Given the description of an element on the screen output the (x, y) to click on. 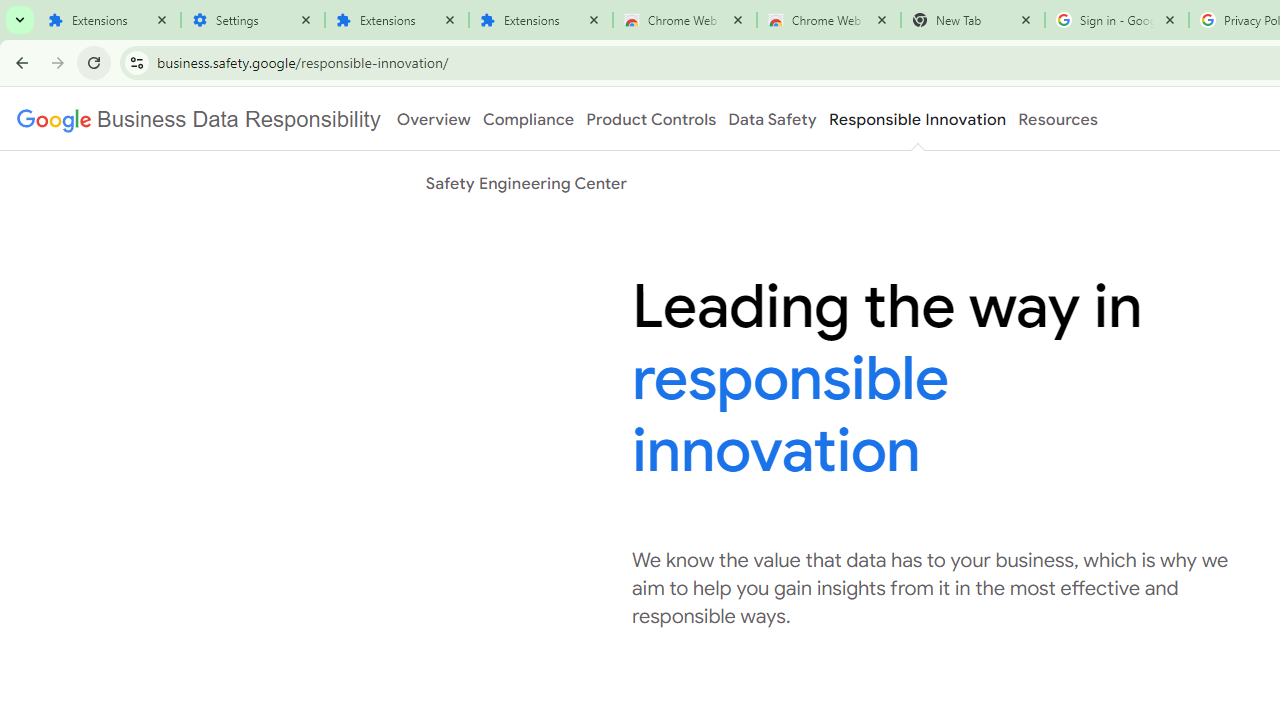
Extensions (108, 20)
System (10, 11)
Back (19, 62)
Product Controls (651, 119)
Google logo (198, 119)
Chrome Web Store - Themes (828, 20)
Close (1169, 19)
New Tab (972, 20)
Settings (252, 20)
Chrome Web Store (684, 20)
Forward (57, 62)
Extensions (540, 20)
Search tabs (20, 20)
System (10, 11)
